Given the description of an element on the screen output the (x, y) to click on. 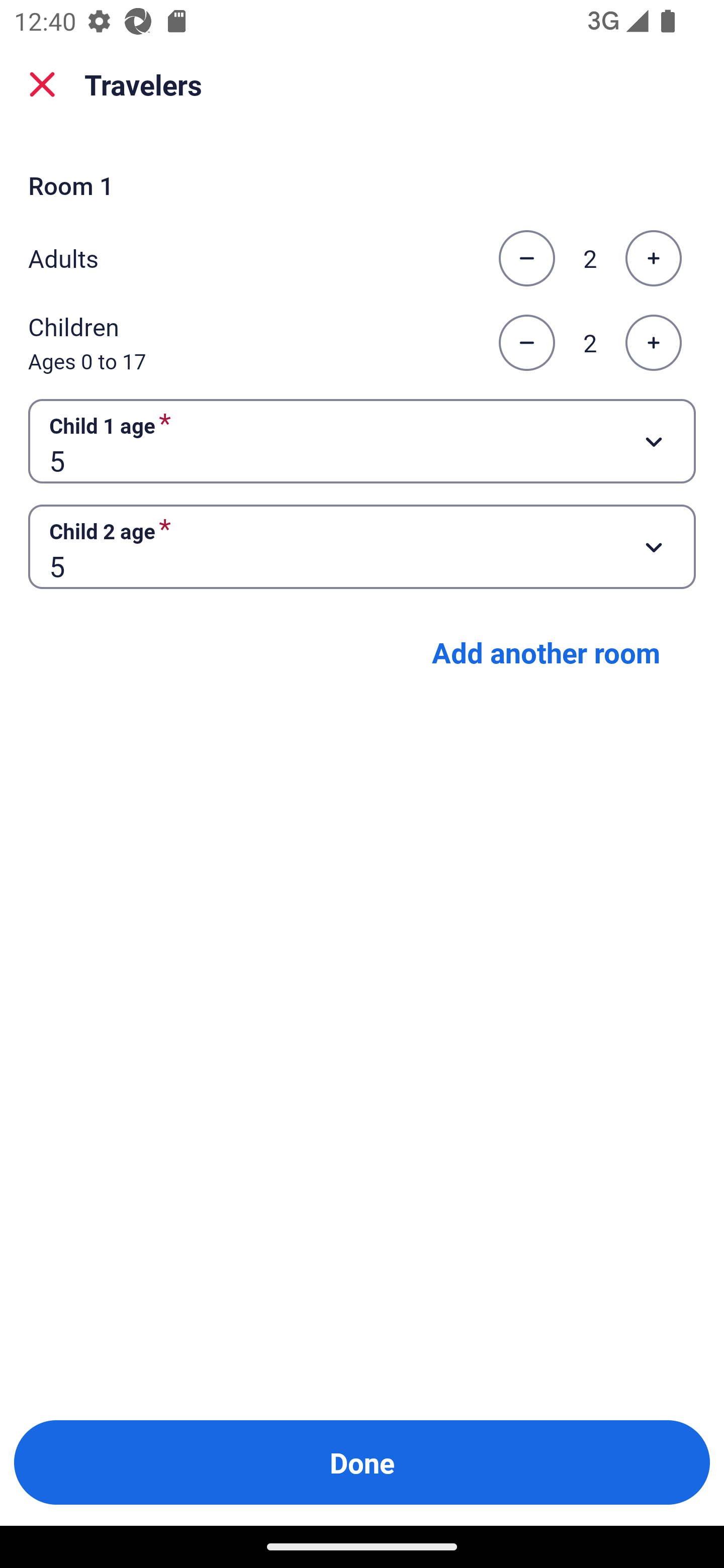
close (42, 84)
Decrease the number of adults (526, 258)
Increase the number of adults (653, 258)
Decrease the number of children (526, 343)
Increase the number of children (653, 343)
Child 1 age required Button 5 (361, 440)
Child 2 age required Button 5 (361, 546)
Add another room (545, 651)
Done (361, 1462)
